Given the description of an element on the screen output the (x, y) to click on. 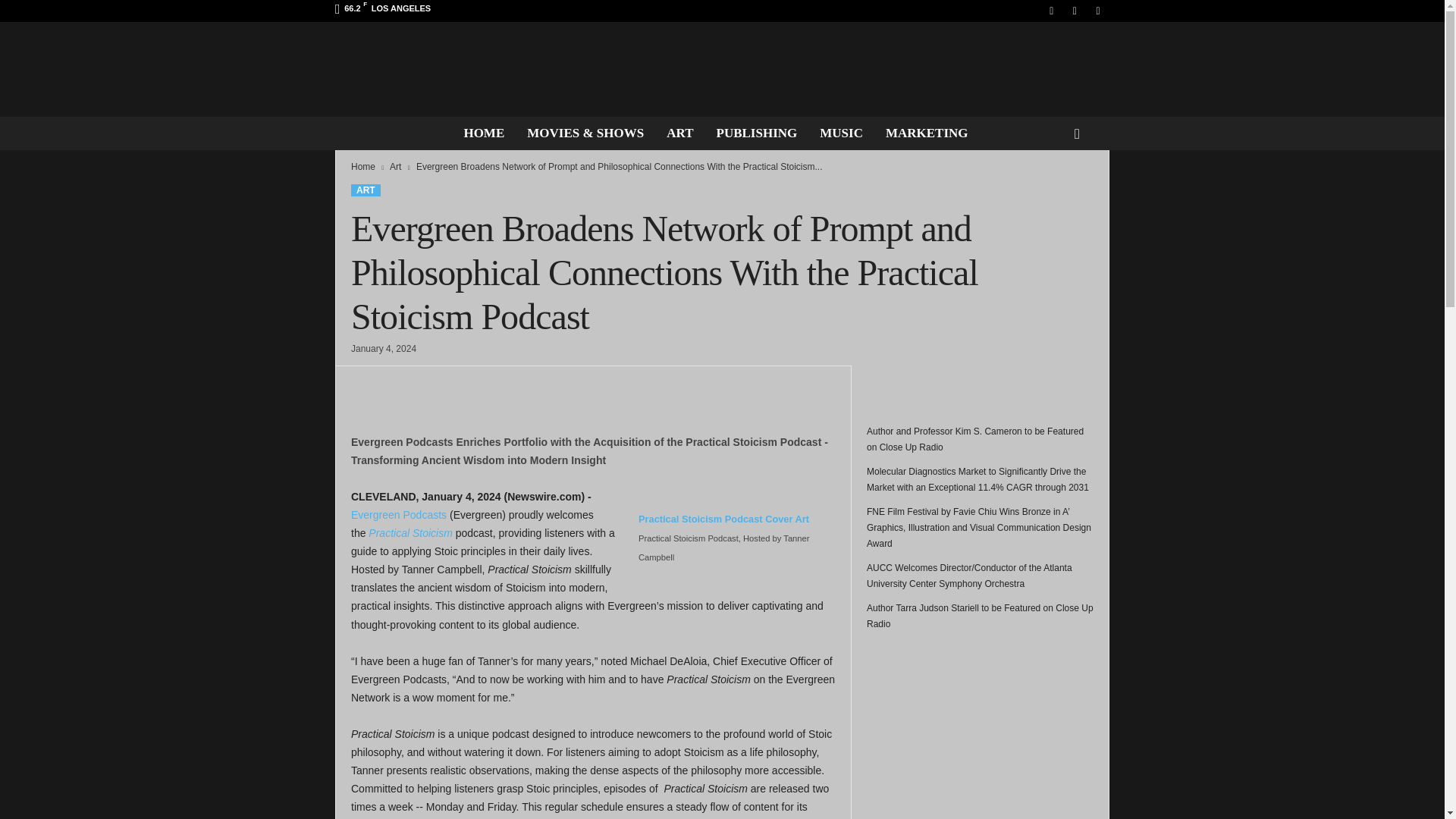
View all posts in Art (395, 166)
Practical Stoicism (409, 532)
Portal Hollywood (721, 69)
Home (362, 166)
MUSIC (841, 133)
HOME (483, 133)
ART (365, 190)
Art (395, 166)
Practical Stoicism Podcast Cover Art (724, 527)
MARKETING (927, 133)
Evergreen Podcasts (398, 514)
ART (679, 133)
PUBLISHING (756, 133)
